Given the description of an element on the screen output the (x, y) to click on. 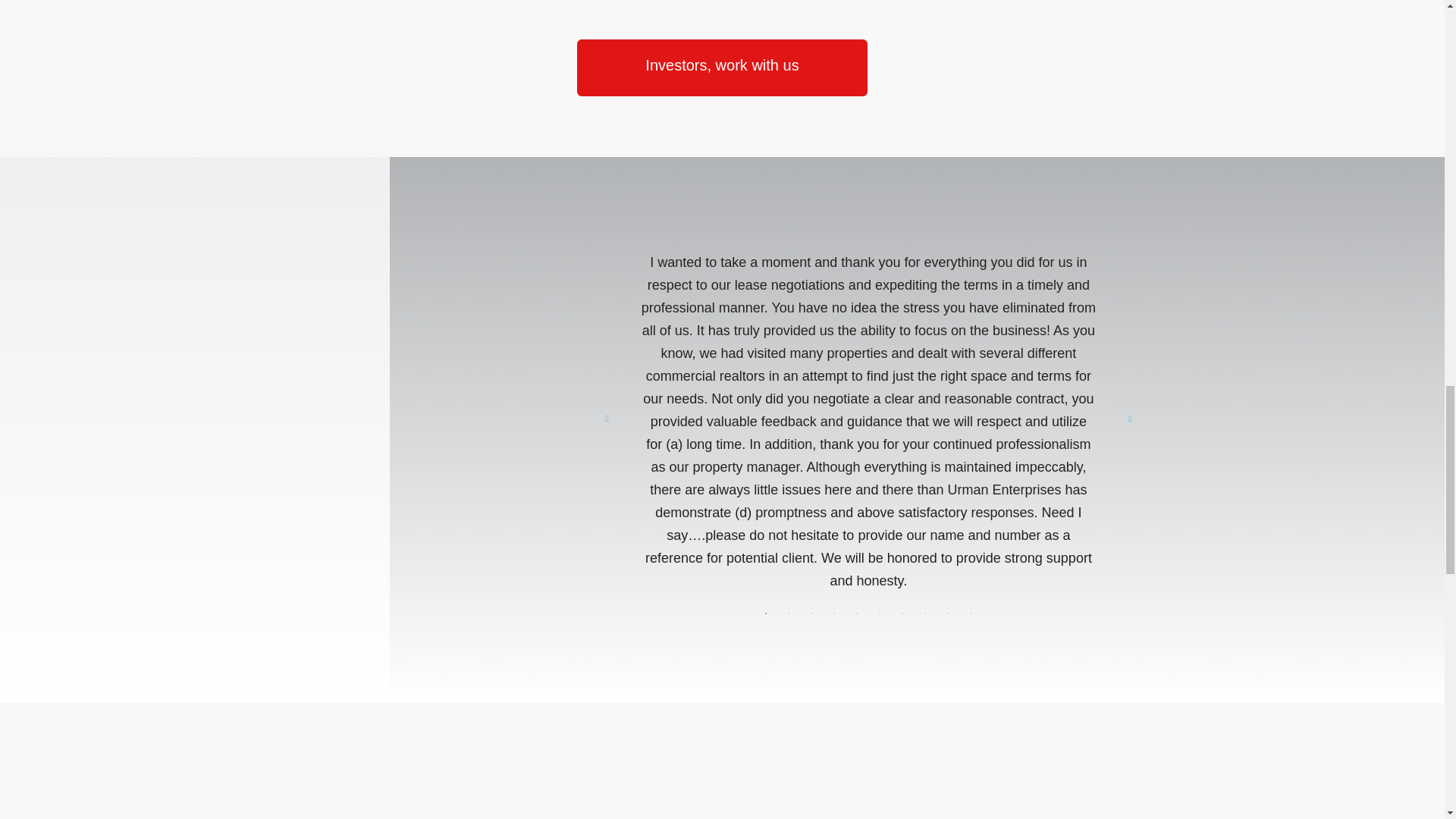
Prev (606, 418)
Next (1129, 418)
10 (970, 613)
5 (856, 613)
Investors, work with us (721, 67)
3 (810, 613)
7 (902, 613)
1 (765, 613)
6 (879, 613)
4 (834, 613)
9 (947, 613)
8 (925, 613)
2 (788, 613)
